Given the description of an element on the screen output the (x, y) to click on. 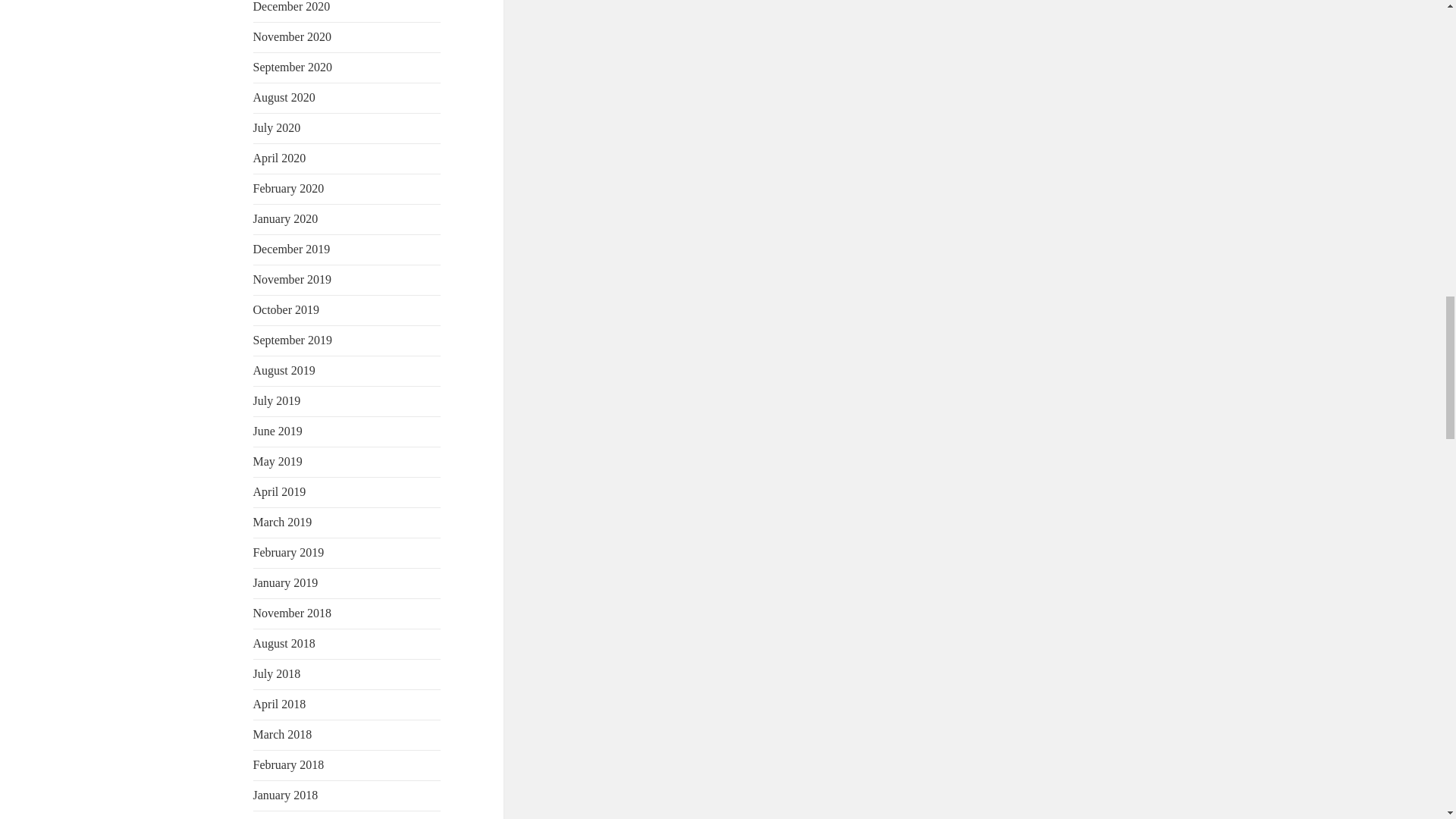
December 2019 (291, 248)
September 2019 (292, 339)
November 2019 (292, 278)
August 2020 (284, 97)
September 2020 (292, 66)
March 2019 (283, 521)
February 2019 (288, 552)
January 2019 (285, 582)
April 2019 (279, 491)
April 2020 (279, 157)
